Given the description of an element on the screen output the (x, y) to click on. 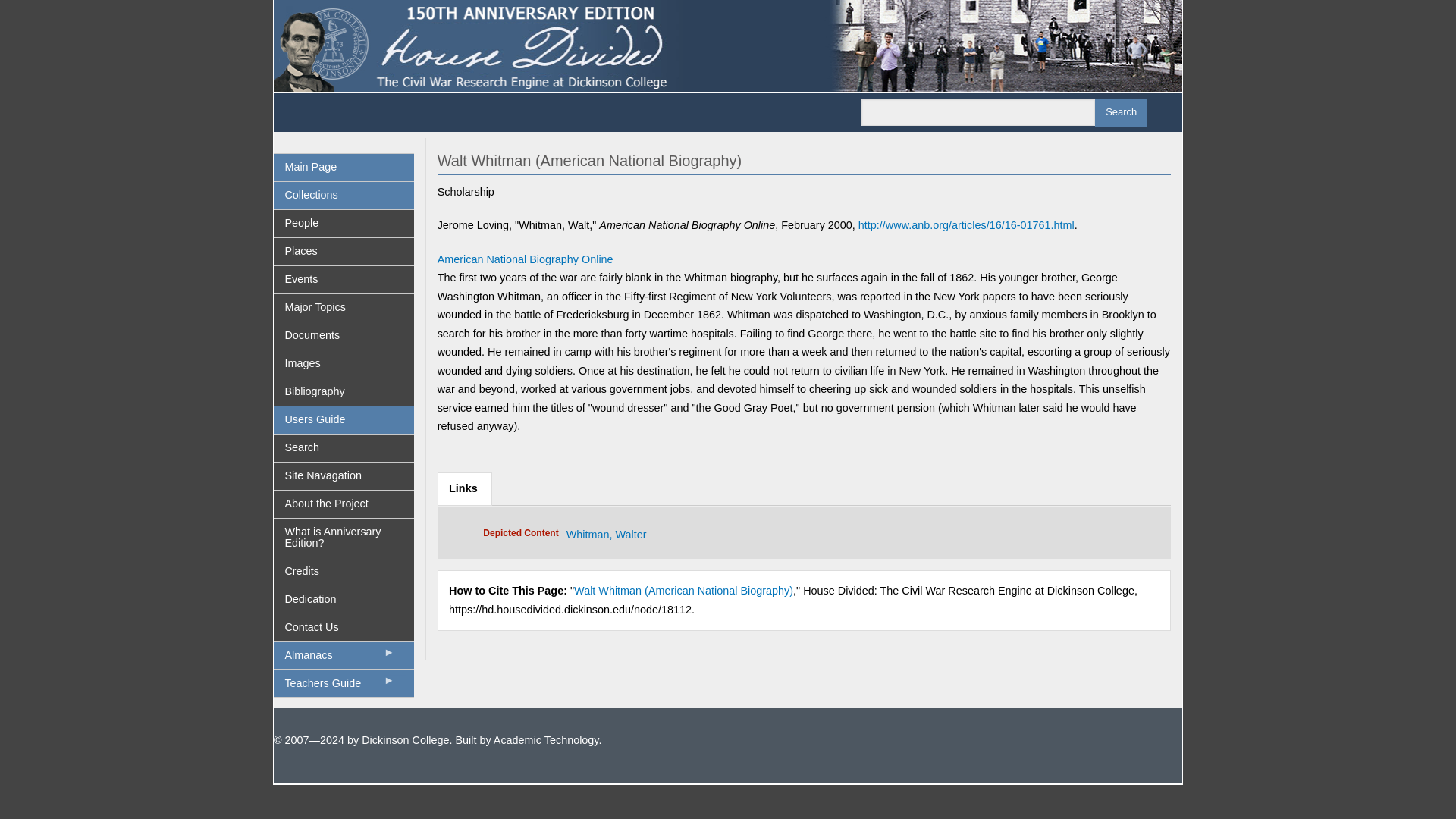
Events (343, 279)
Search (1120, 112)
Site Navagation (343, 475)
Documents (343, 335)
Credits (343, 570)
People (343, 223)
Main Page (343, 166)
About the Project (343, 503)
Contact Us (343, 626)
What is Anniversary Edition? (343, 537)
Major Topics (343, 307)
Images (343, 363)
Search (343, 447)
Home (727, 44)
